Given the description of an element on the screen output the (x, y) to click on. 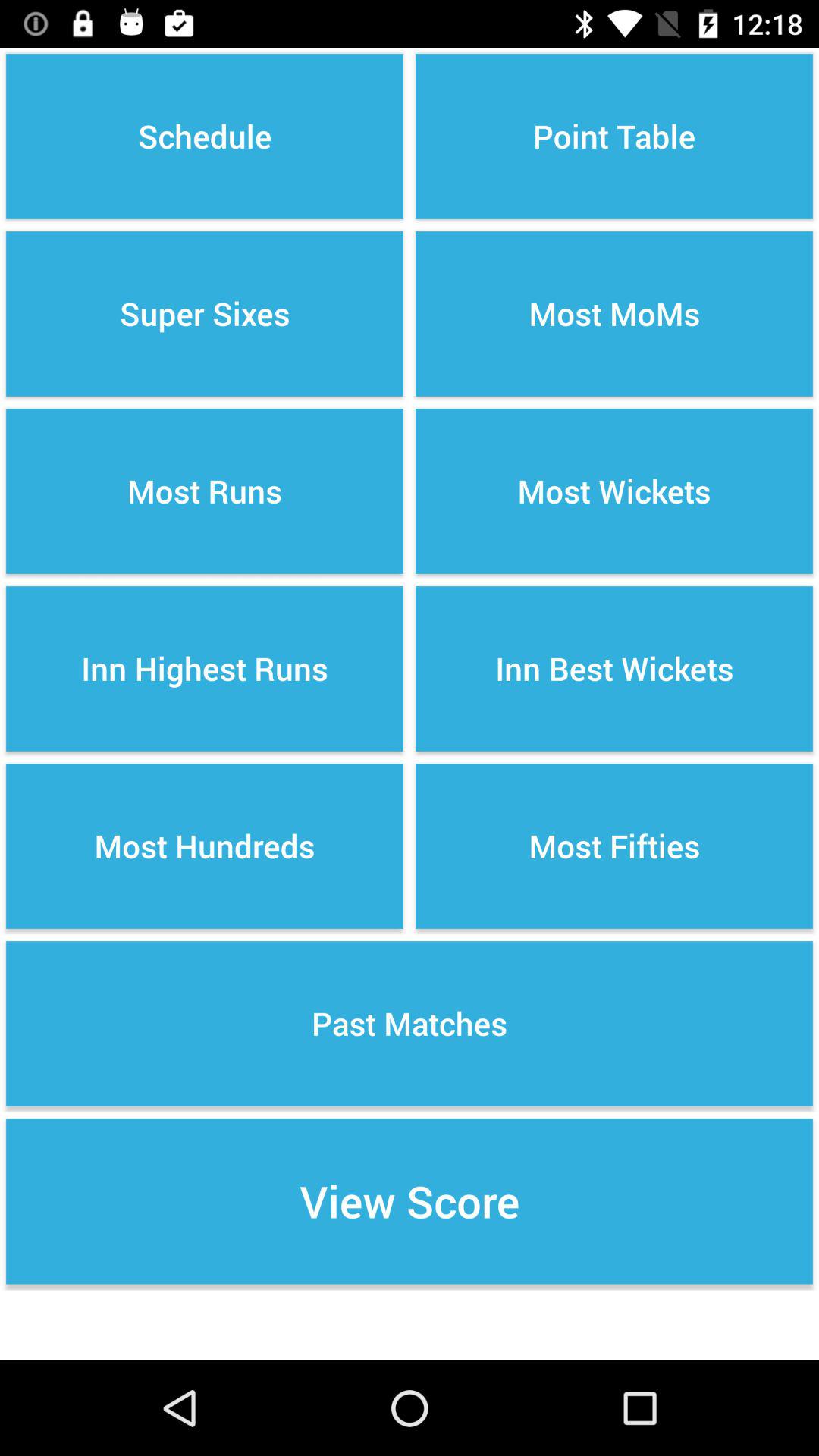
click the button below inn best wickets item (613, 845)
